Given the description of an element on the screen output the (x, y) to click on. 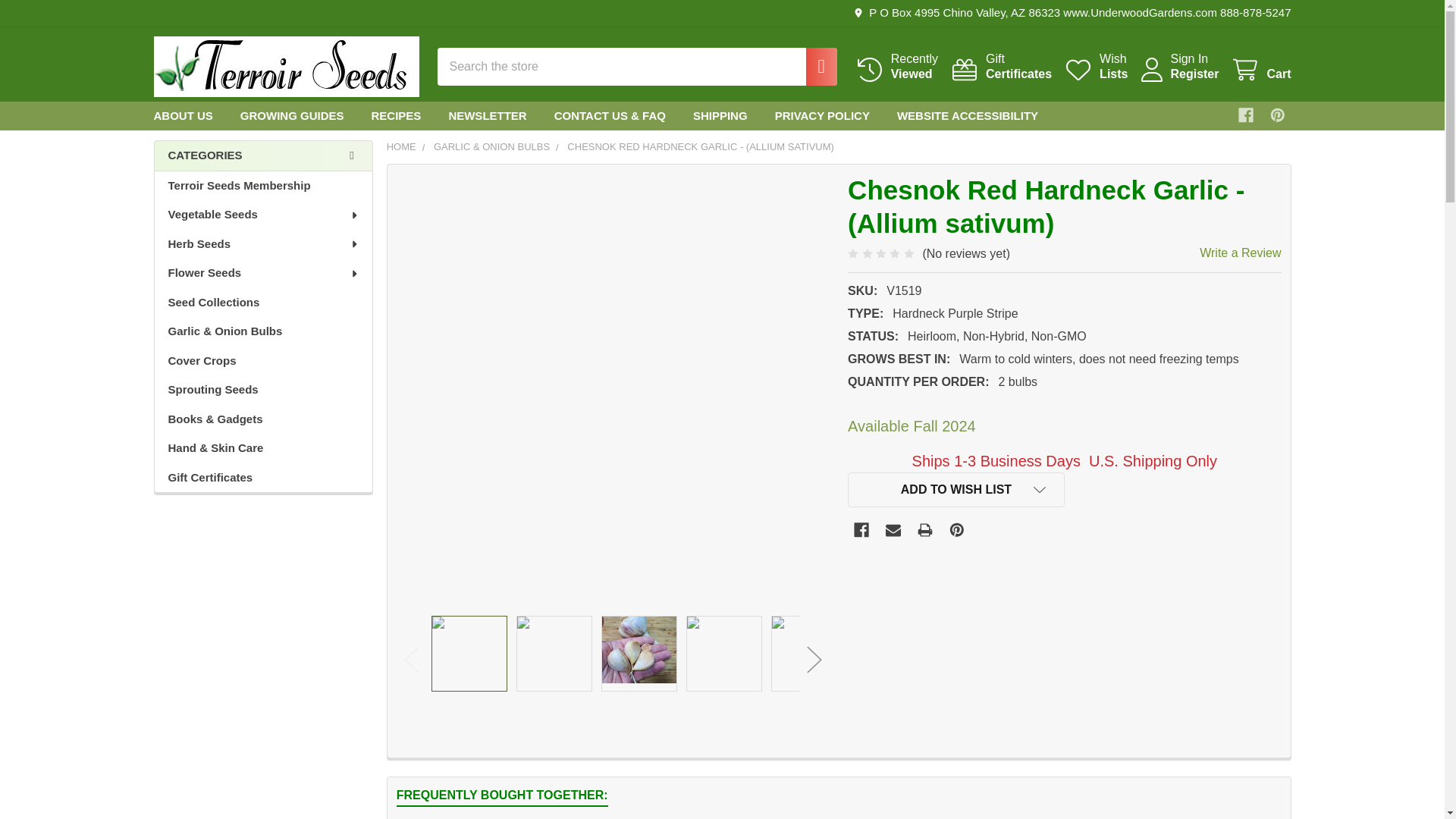
Search (1000, 66)
Cart (813, 66)
Pinterest (1260, 69)
Facebook (896, 66)
Search (1276, 114)
Wish Lists (1245, 114)
Gift Certificates (813, 66)
Recently Viewed (1095, 66)
Cart (1000, 66)
Register (896, 66)
Sign In (1260, 69)
